Given the description of an element on the screen output the (x, y) to click on. 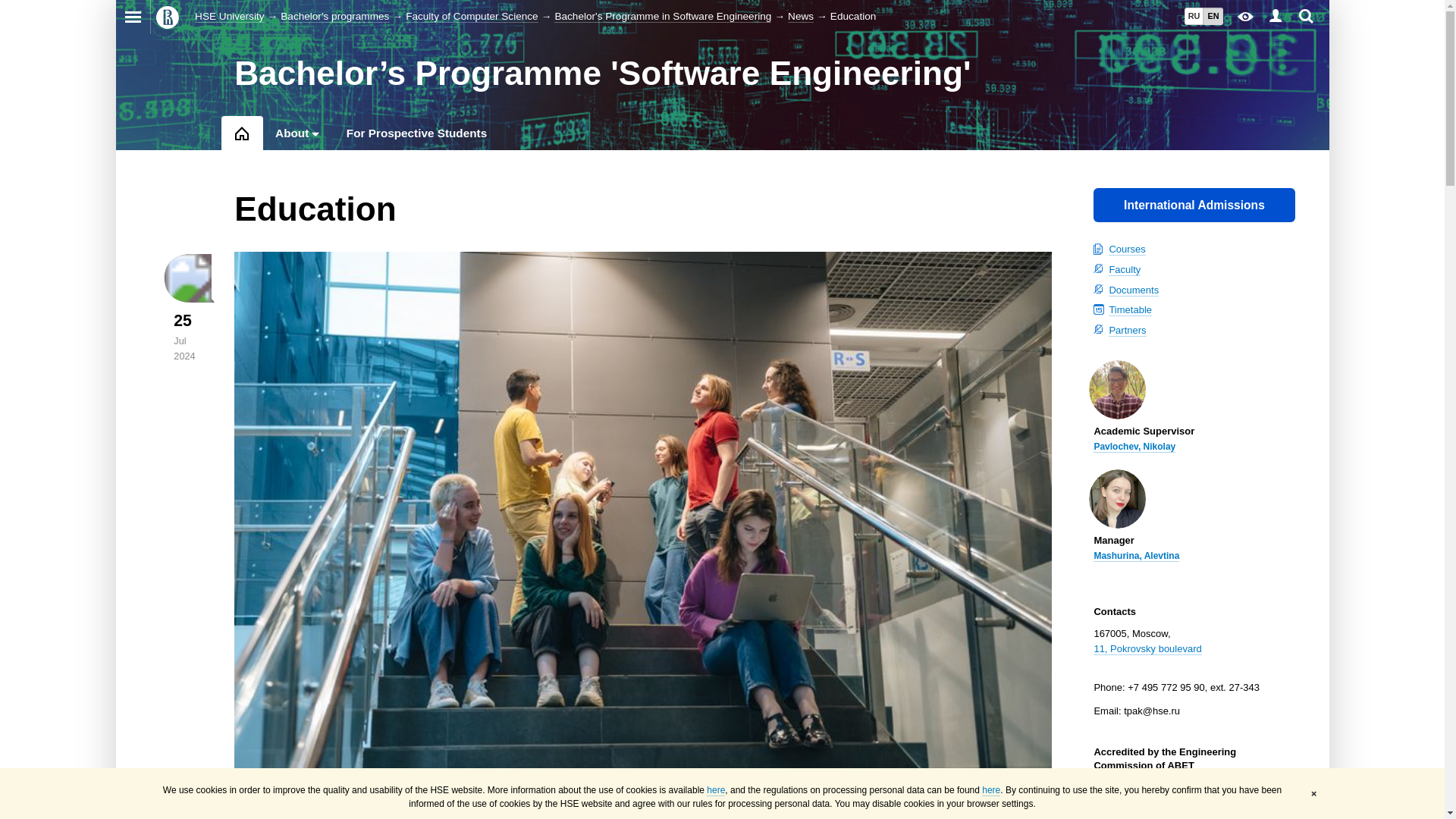
Courses (1126, 249)
here (990, 790)
Documents (1133, 290)
Timetable (1129, 309)
International Admissions (1193, 204)
here (715, 790)
For Prospective Students (416, 133)
Faculty (1124, 269)
News (800, 16)
About (291, 132)
